Given the description of an element on the screen output the (x, y) to click on. 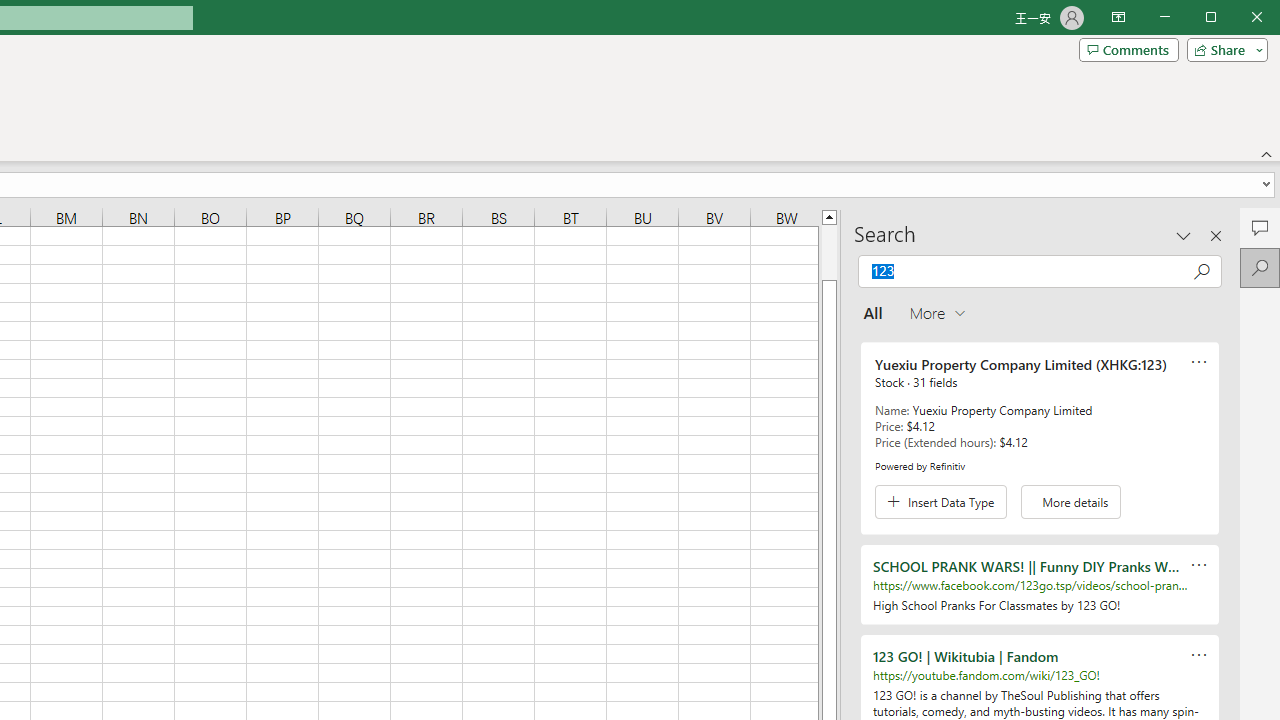
Minimize (1217, 18)
Comments (1128, 49)
Line up (829, 216)
Close pane (1215, 235)
Comments (1260, 227)
Search (1260, 267)
Maximize (1239, 18)
Task Pane Options (1183, 235)
Close (1261, 18)
Ribbon Display Options (1118, 17)
Share (1223, 49)
Page up (829, 252)
Collapse the Ribbon (1267, 154)
